Given the description of an element on the screen output the (x, y) to click on. 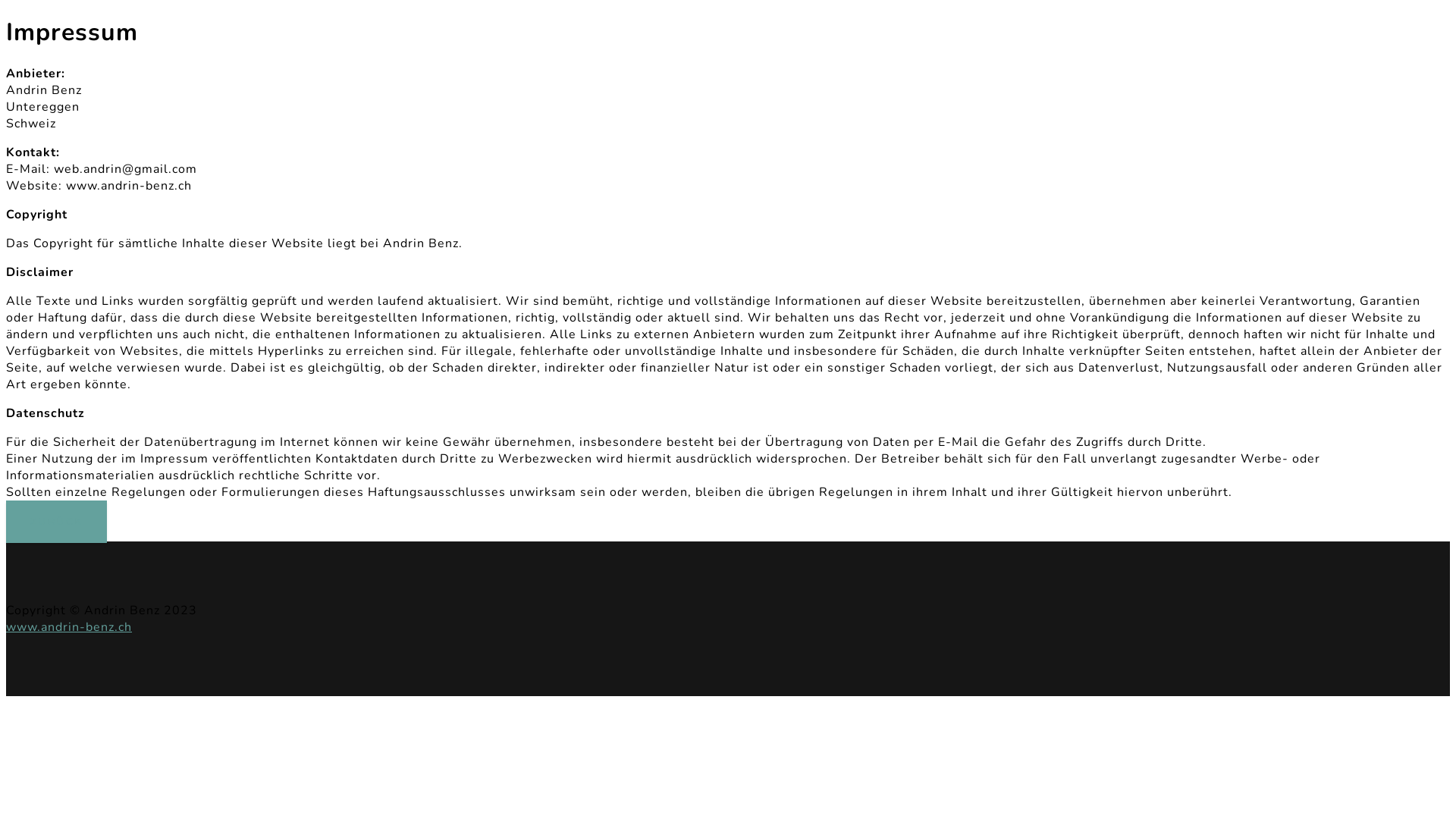
www.andrin-benz.ch Element type: text (68, 626)
